Given the description of an element on the screen output the (x, y) to click on. 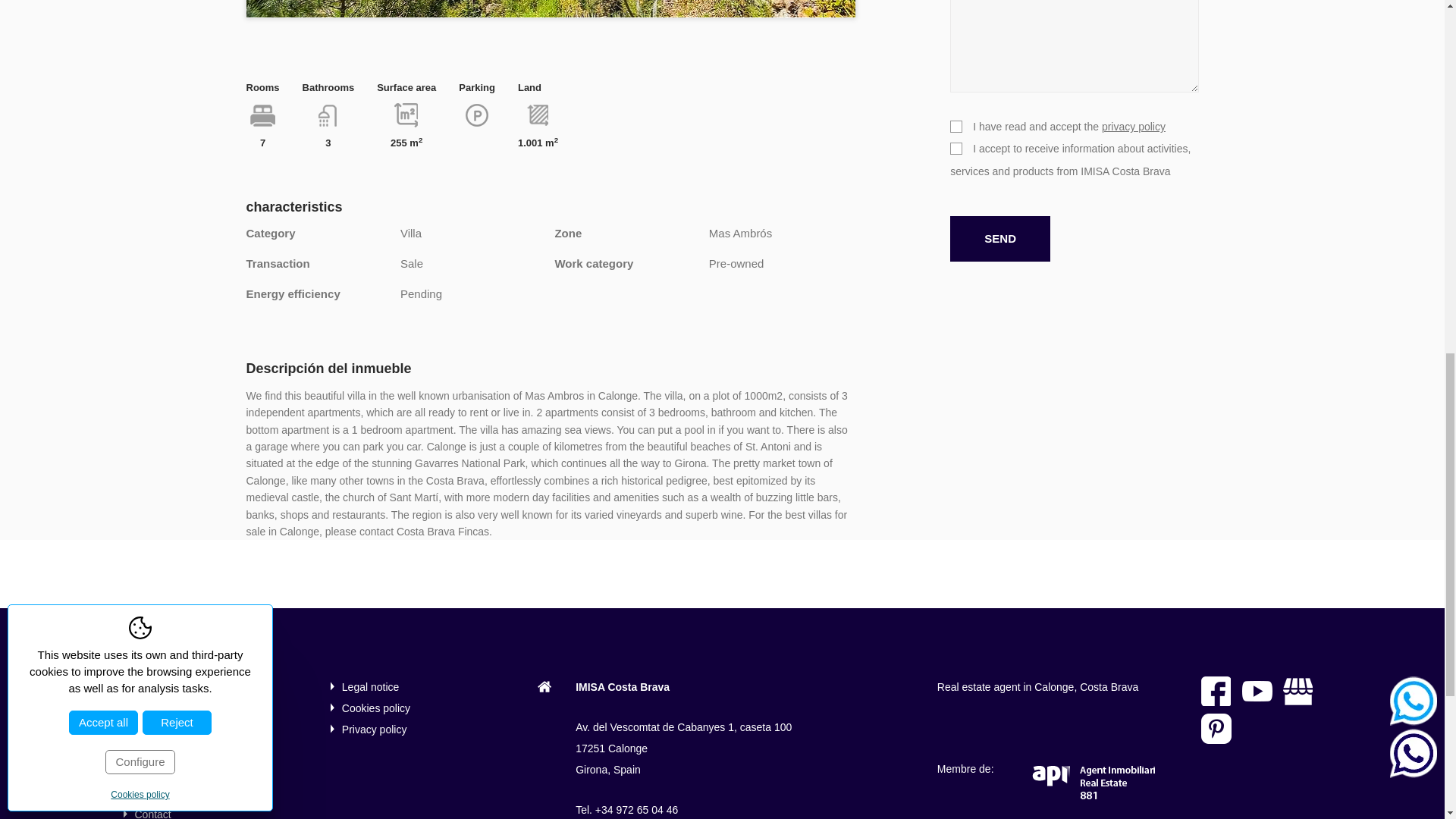
Send (999, 238)
Villa with 3 independent apartments (551, 9)
